Given the description of an element on the screen output the (x, y) to click on. 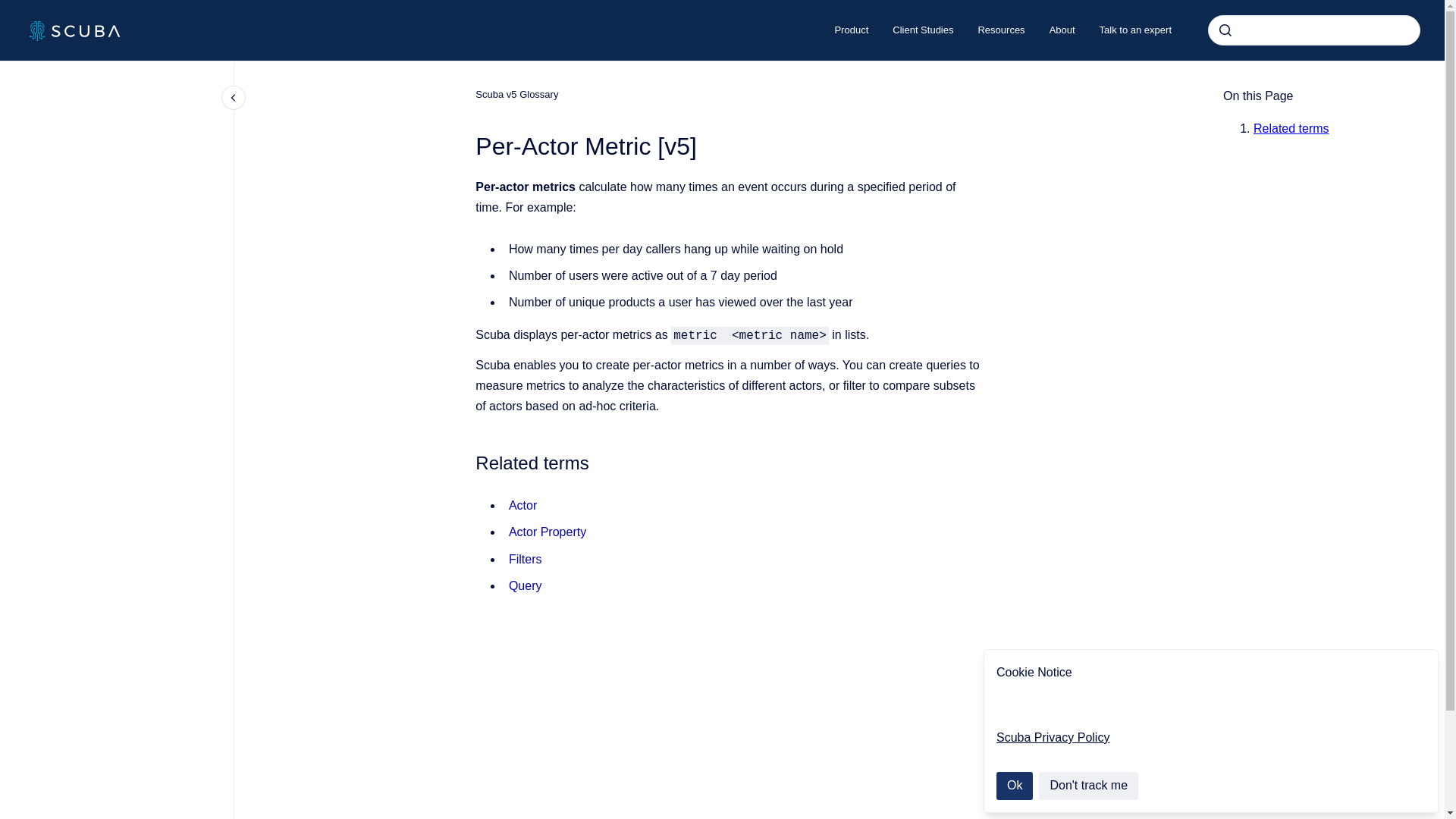
Scuba v5 Glossary (516, 94)
Actor (522, 504)
Query (524, 585)
Product (851, 29)
Talk to an expert (1135, 29)
Resources (1000, 29)
Actor Property (547, 531)
Client Studies (922, 29)
Don't track me (1088, 786)
About (1061, 29)
